Given the description of an element on the screen output the (x, y) to click on. 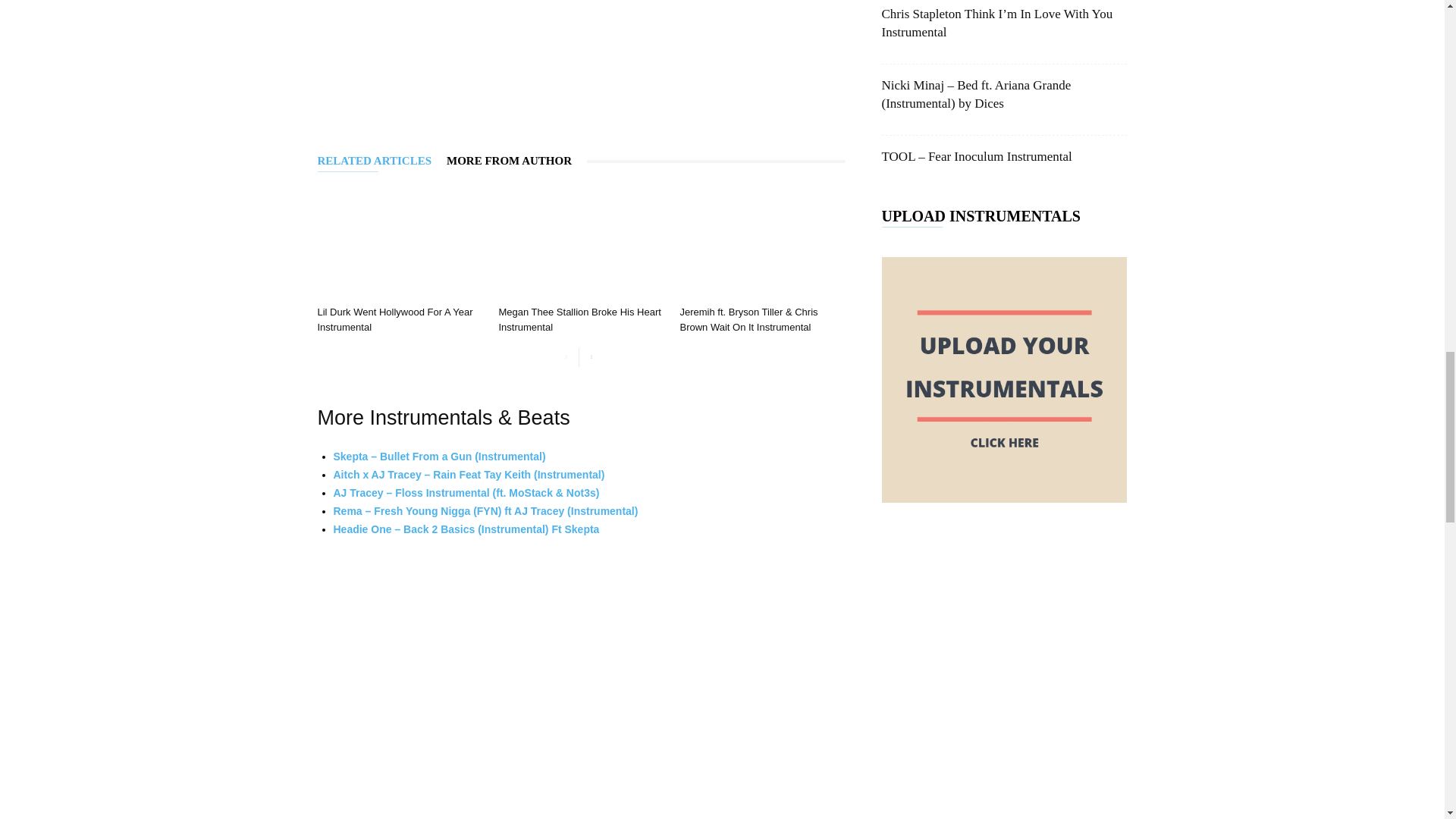
Lil Durk Went Hollywood For A Year Instrumental (394, 319)
Megan Thee Stallion Broke His Heart Instrumental (579, 319)
Lil Durk Went Hollywood For A Year Instrumental (399, 242)
Megan Thee Stallion Broke His Heart Instrumental (580, 242)
